Given the description of an element on the screen output the (x, y) to click on. 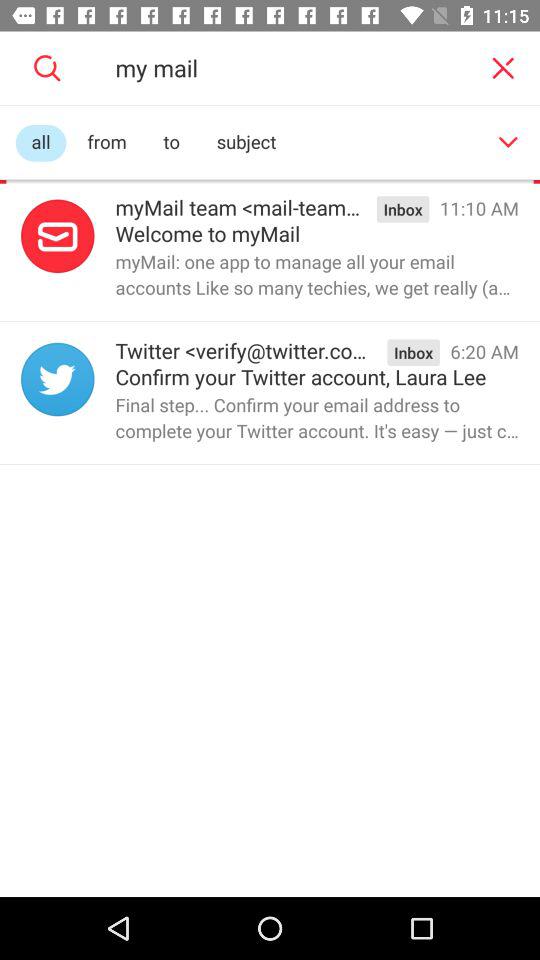
open message (57, 236)
